Given the description of an element on the screen output the (x, y) to click on. 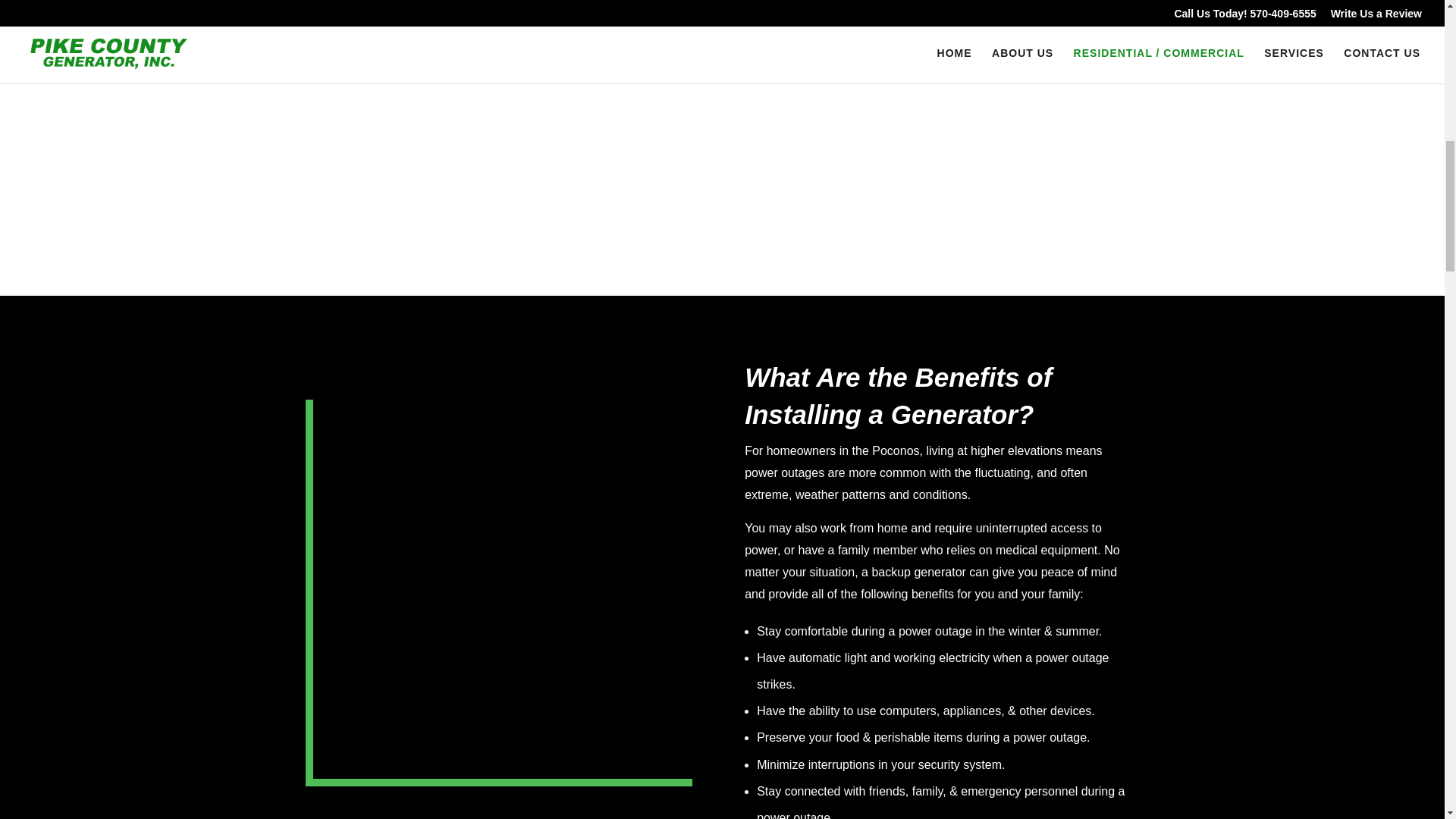
LEARN MORE ABOUT OUR UNIQUE GENERATOR INSTALLATION PROCESS! (343, 41)
